Given the description of an element on the screen output the (x, y) to click on. 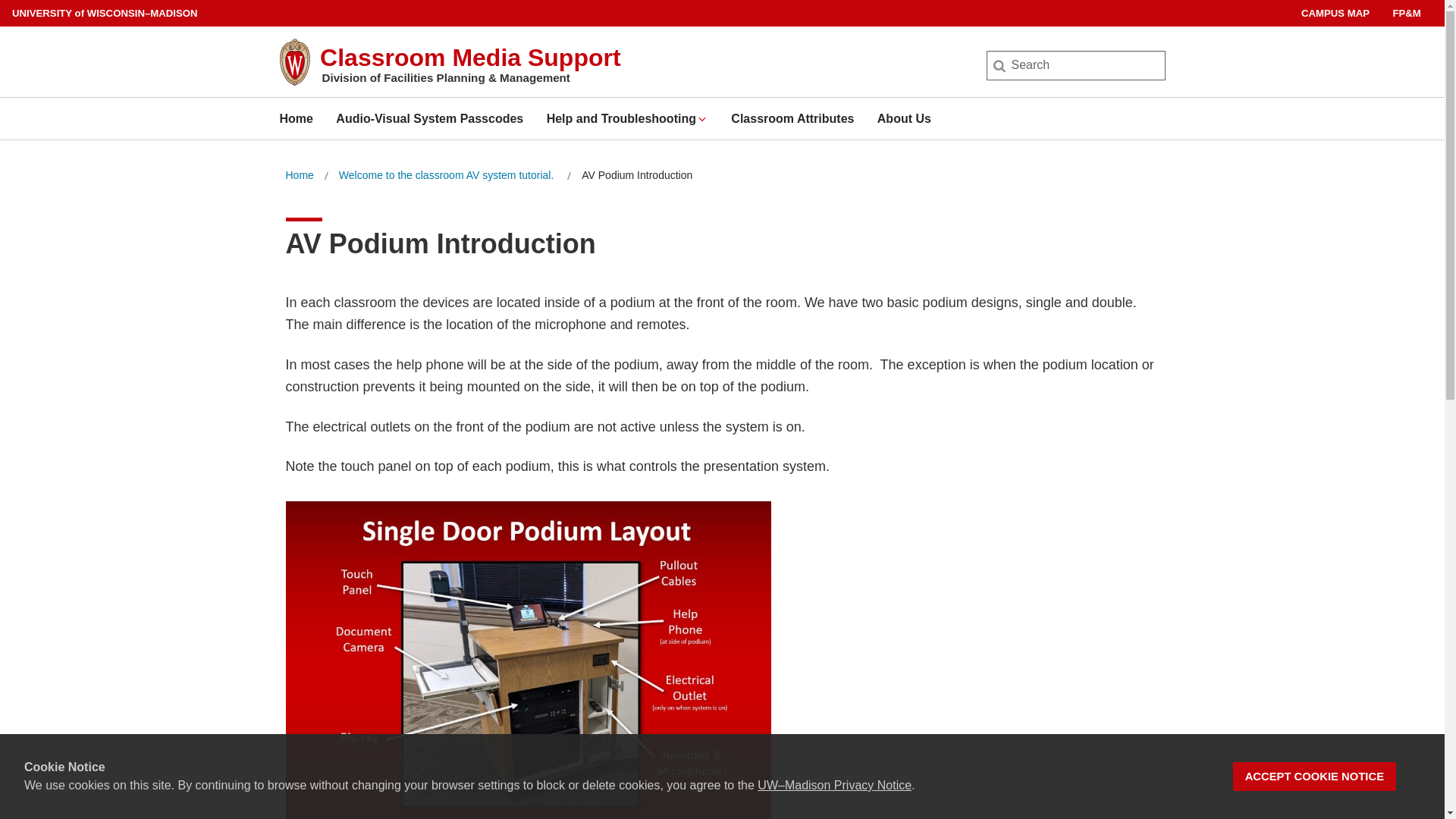
Classroom Media Support (470, 57)
CAMPUS MAP (1335, 13)
About Us (904, 118)
Classroom Attributes (791, 118)
AV Podium Introduction (636, 175)
Expand (701, 119)
Home (296, 118)
AV Podium Introduction (636, 175)
ACCEPT COOKIE NOTICE (1314, 776)
Home (299, 175)
Help and Troubleshooting Expand (627, 118)
Skip to main content (3, 3)
Home (299, 175)
Welcome to the classroom AV system tutorial.  (447, 175)
